Given the description of an element on the screen output the (x, y) to click on. 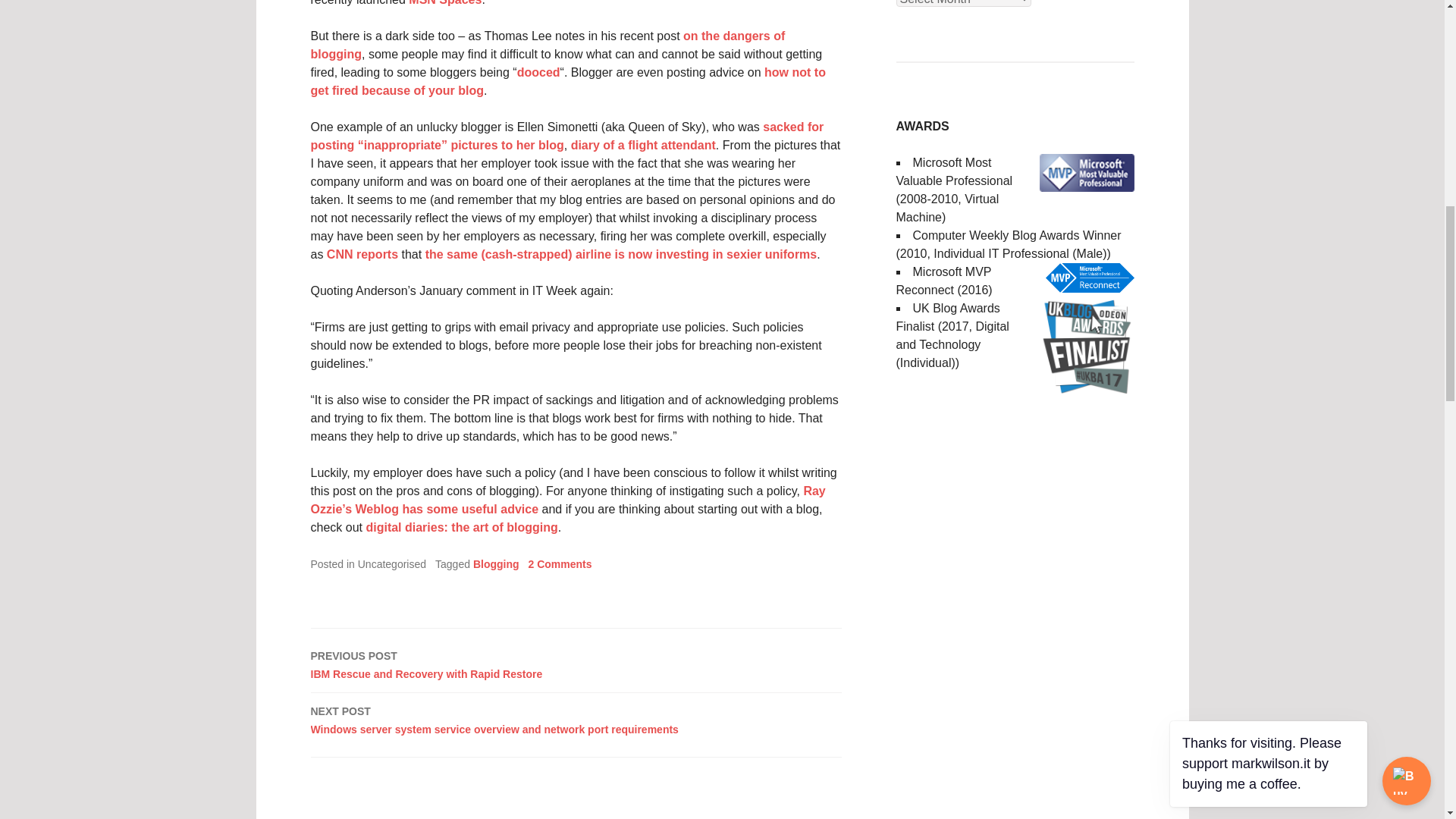
2 Comments (576, 663)
dooced (560, 563)
diary of a flight attendant (538, 72)
on the dangers of blogging (643, 144)
CNN reports (548, 44)
Blogging (361, 254)
how not to get fired because of your blog (496, 563)
digital diaries: the art of blogging (568, 81)
MSN Spaces (461, 526)
